Given the description of an element on the screen output the (x, y) to click on. 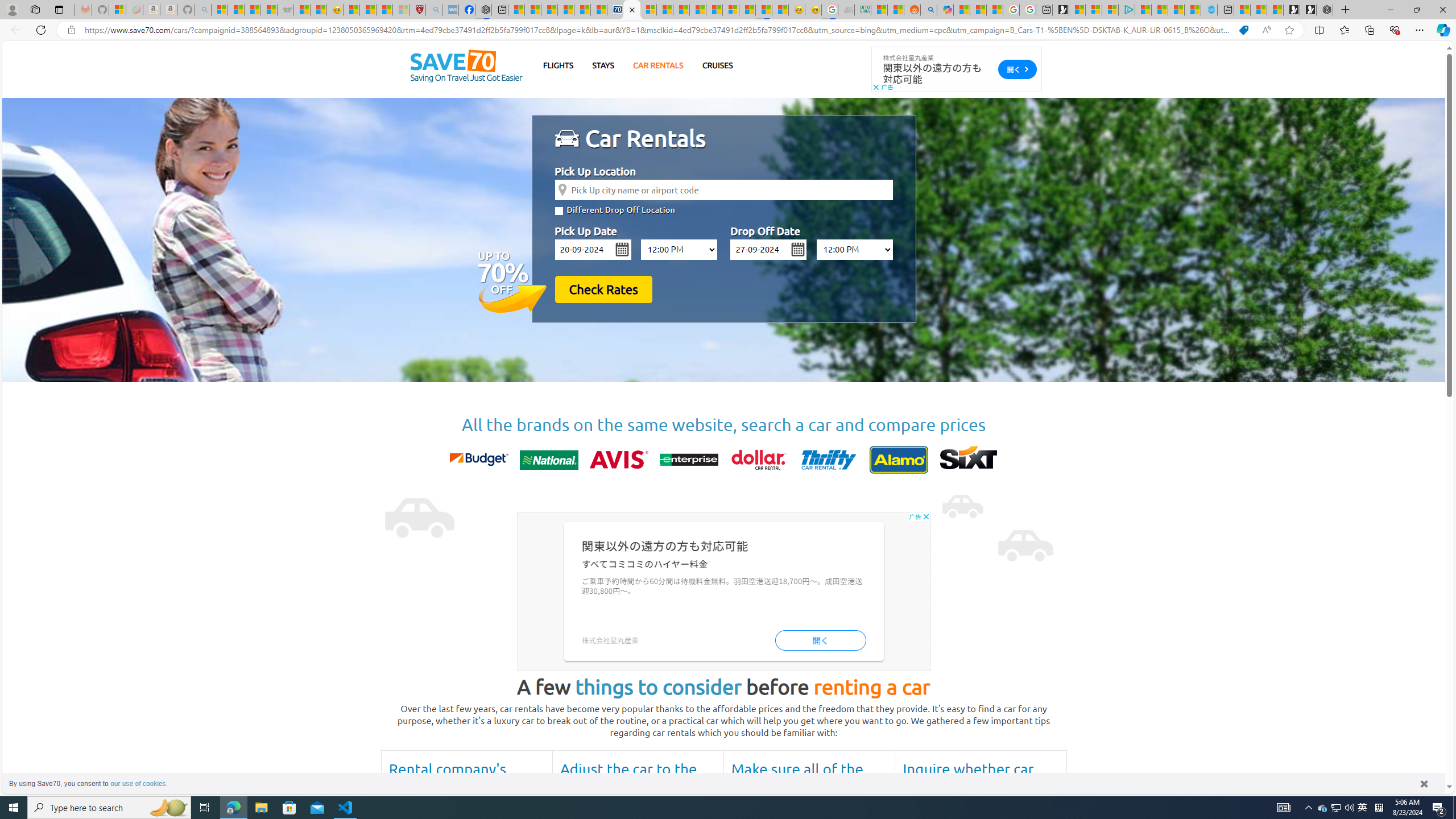
STAYS (603, 65)
Budget (478, 459)
